Given the description of an element on the screen output the (x, y) to click on. 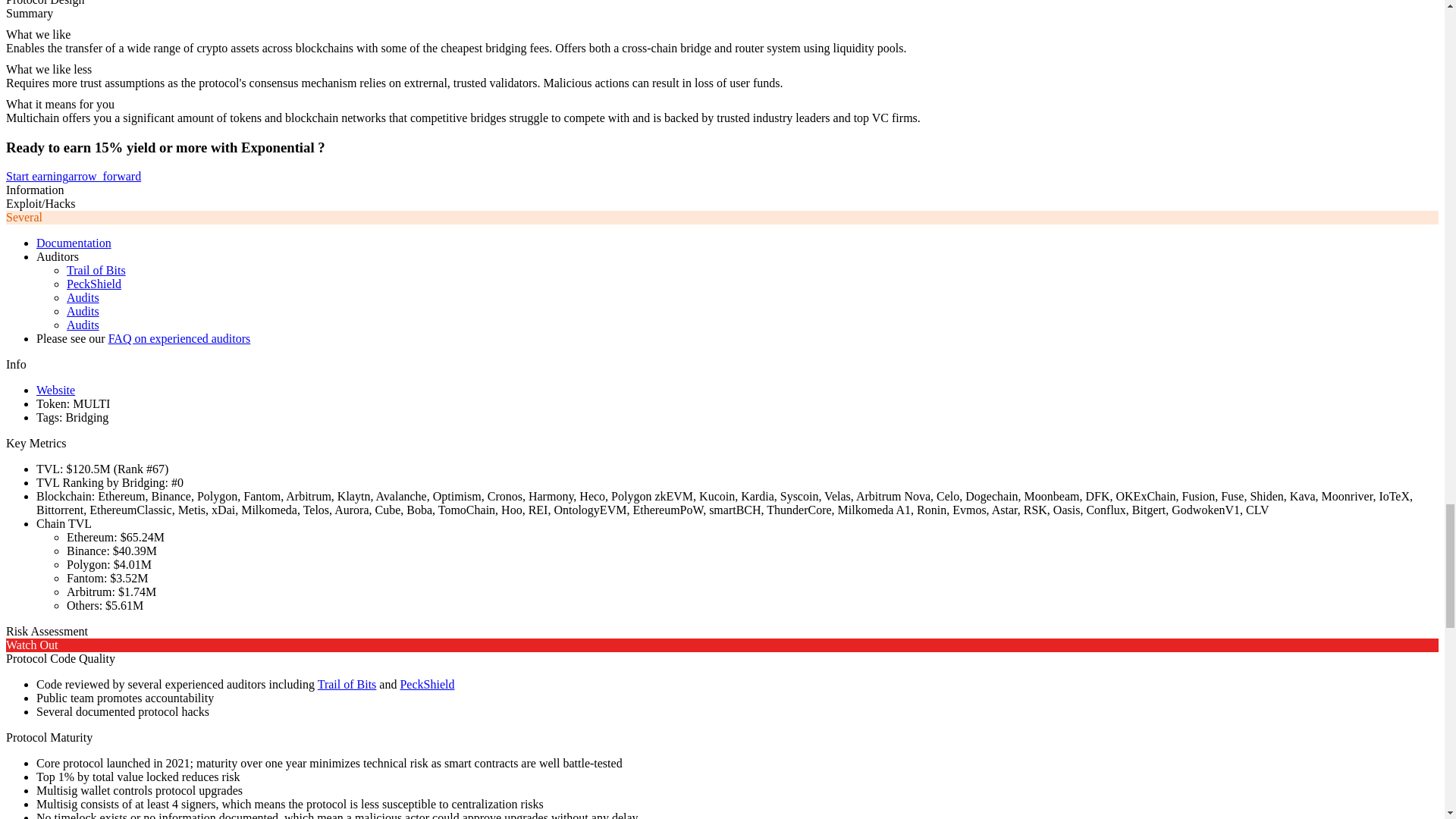
Trail of Bits (95, 269)
Website (55, 390)
Audits (82, 324)
Audits (82, 310)
Audits (82, 297)
PeckShield (93, 283)
PeckShield (426, 684)
Documentation (74, 242)
FAQ on experienced auditors (178, 338)
Trail of Bits (347, 684)
